Given the description of an element on the screen output the (x, y) to click on. 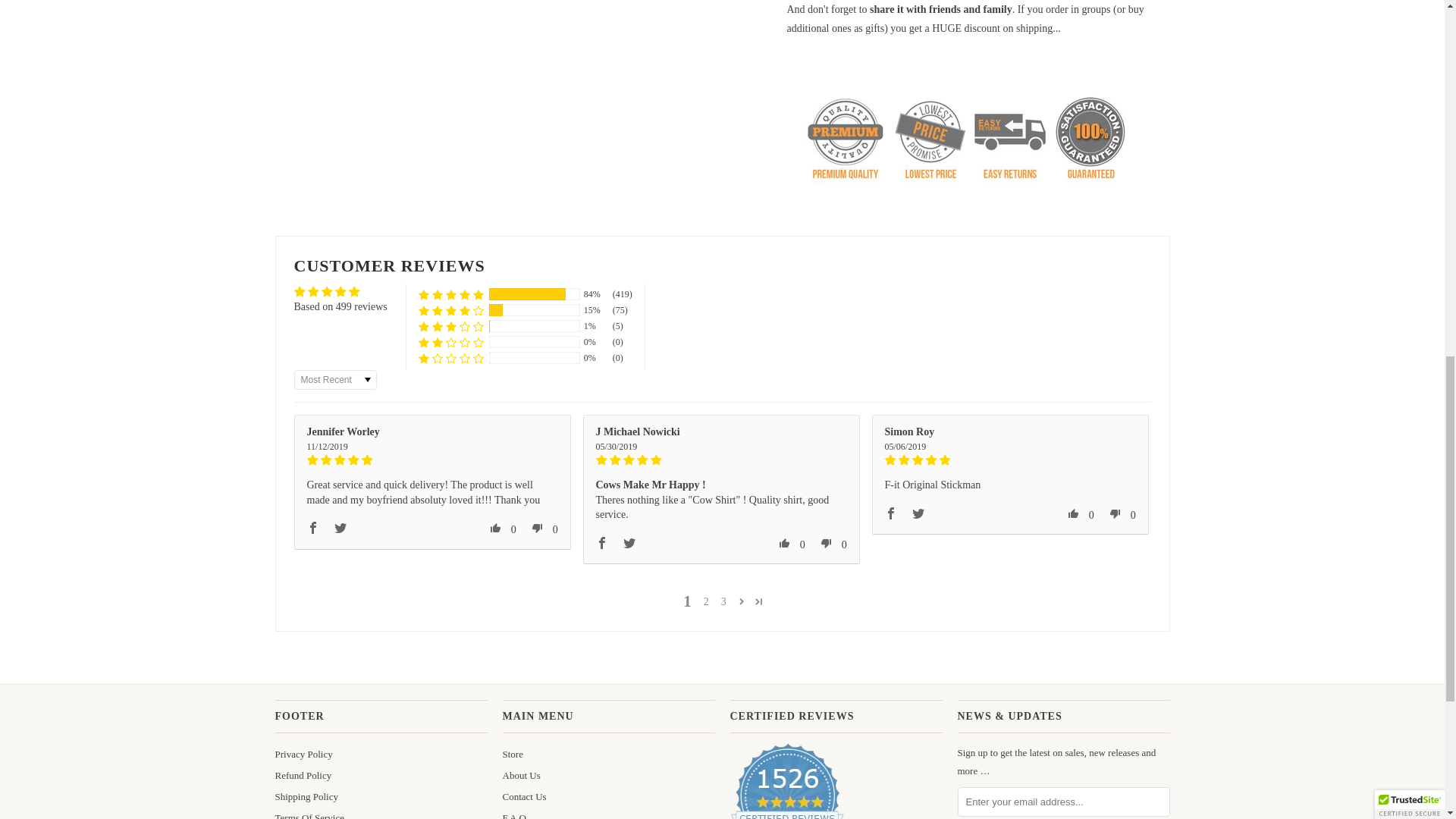
3 (723, 601)
up (495, 527)
down (537, 527)
1 (687, 601)
Twitter (339, 527)
Facebook (311, 527)
2 (705, 601)
